Given the description of an element on the screen output the (x, y) to click on. 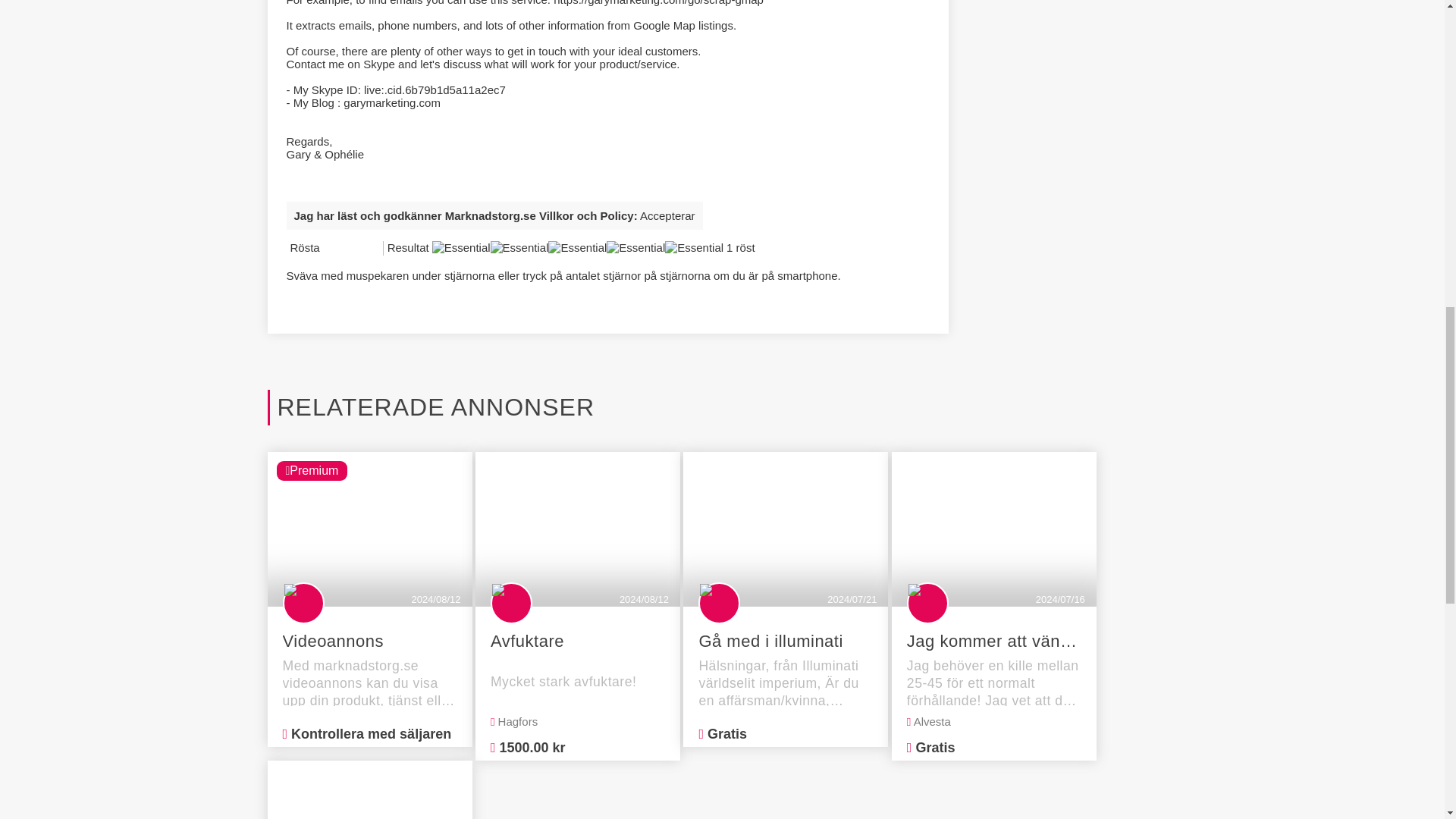
Essential (349, 258)
Videoannons (369, 641)
Very interesting (344, 258)
Essential (577, 246)
Essential (461, 246)
Essential (694, 246)
Interesting (338, 258)
Essential (519, 246)
Uninteresting (333, 258)
Essential (636, 246)
